Given the description of an element on the screen output the (x, y) to click on. 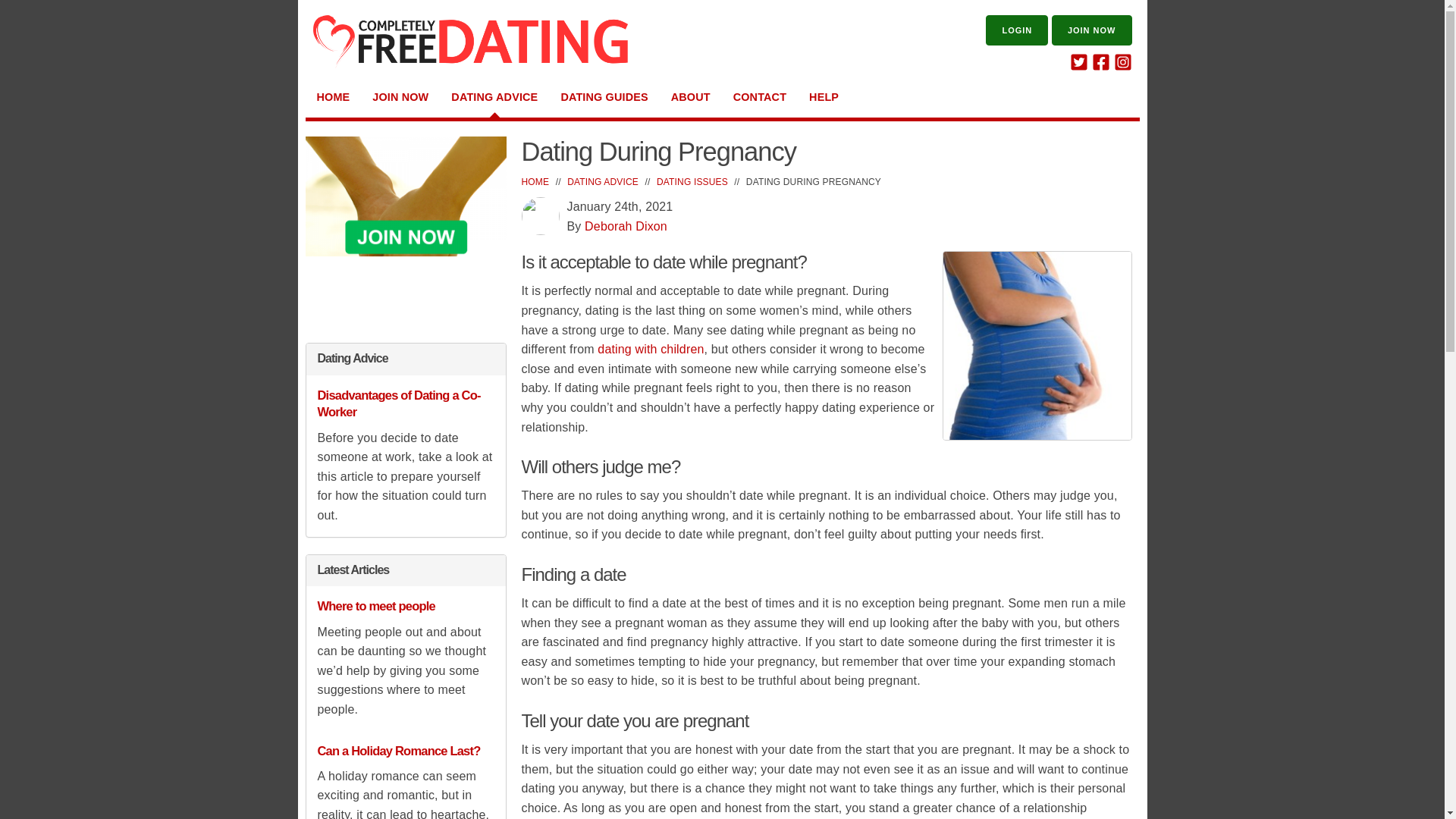
JOIN NOW (400, 97)
Instagram (1122, 66)
DATING ISSUES (692, 181)
Deborah Dixon (625, 226)
DATING GUIDES (603, 97)
Go to Completely Free Dating Ireland. (535, 181)
Go to the Dating Issues category archives. (692, 181)
LOGIN (1016, 30)
Go to the Dating Advice category archives. (603, 181)
dating with children (649, 349)
